Given the description of an element on the screen output the (x, y) to click on. 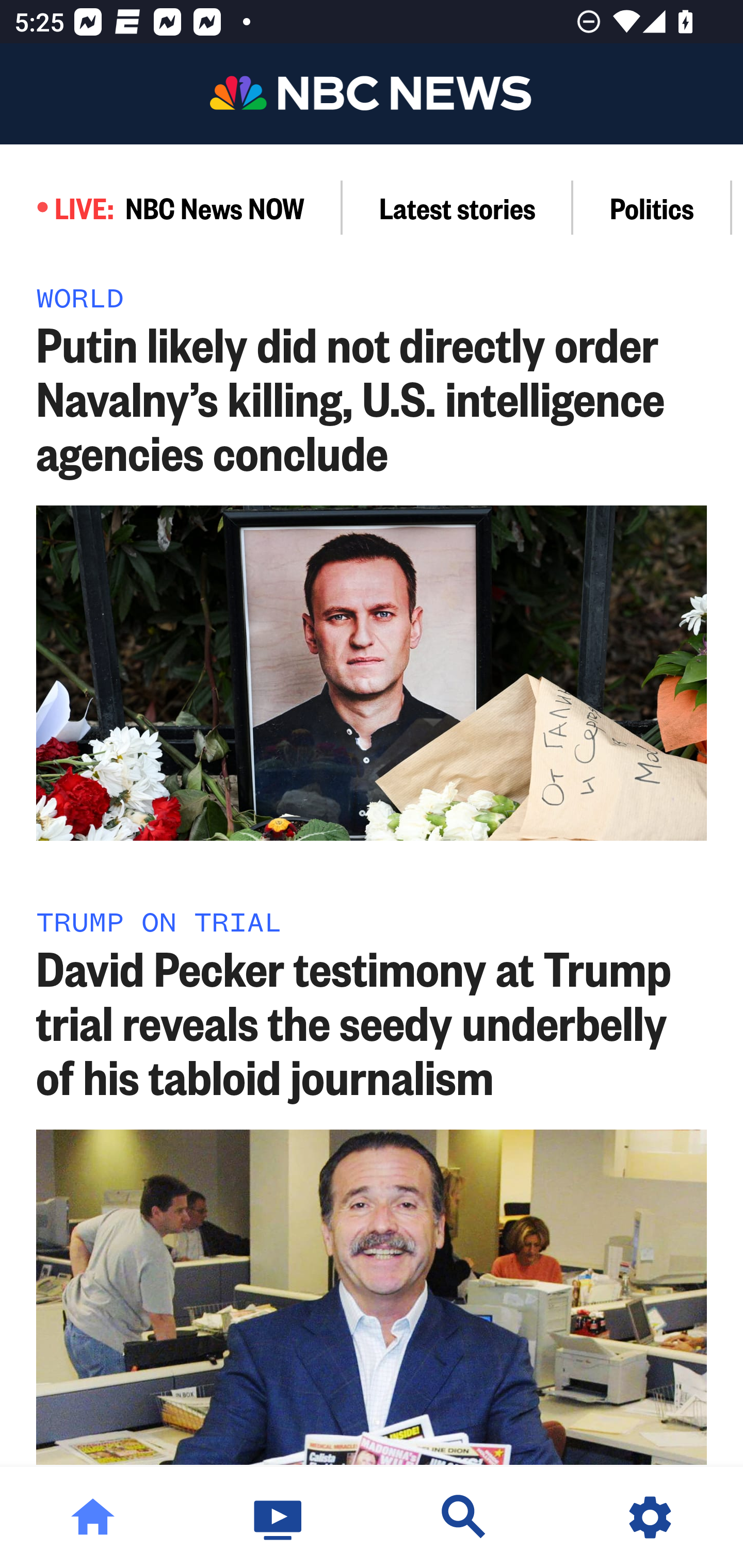
LIVE:  NBC News NOW (171, 207)
Latest stories Section,Latest stories (457, 207)
Politics Section,Politics (652, 207)
Watch (278, 1517)
Discover (464, 1517)
Settings (650, 1517)
